Given the description of an element on the screen output the (x, y) to click on. 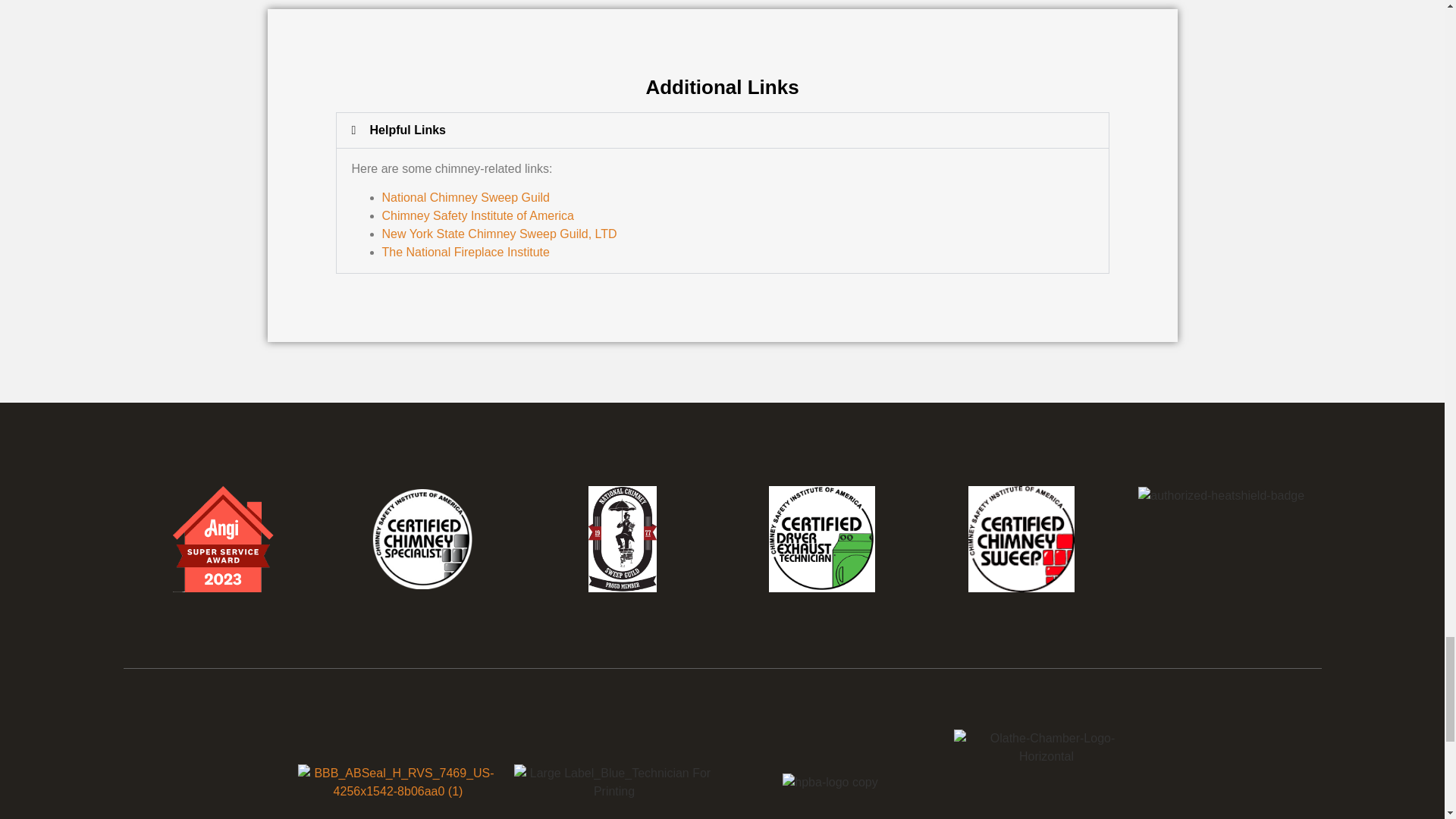
authorized-heatshield-badge (1221, 495)
